Given the description of an element on the screen output the (x, y) to click on. 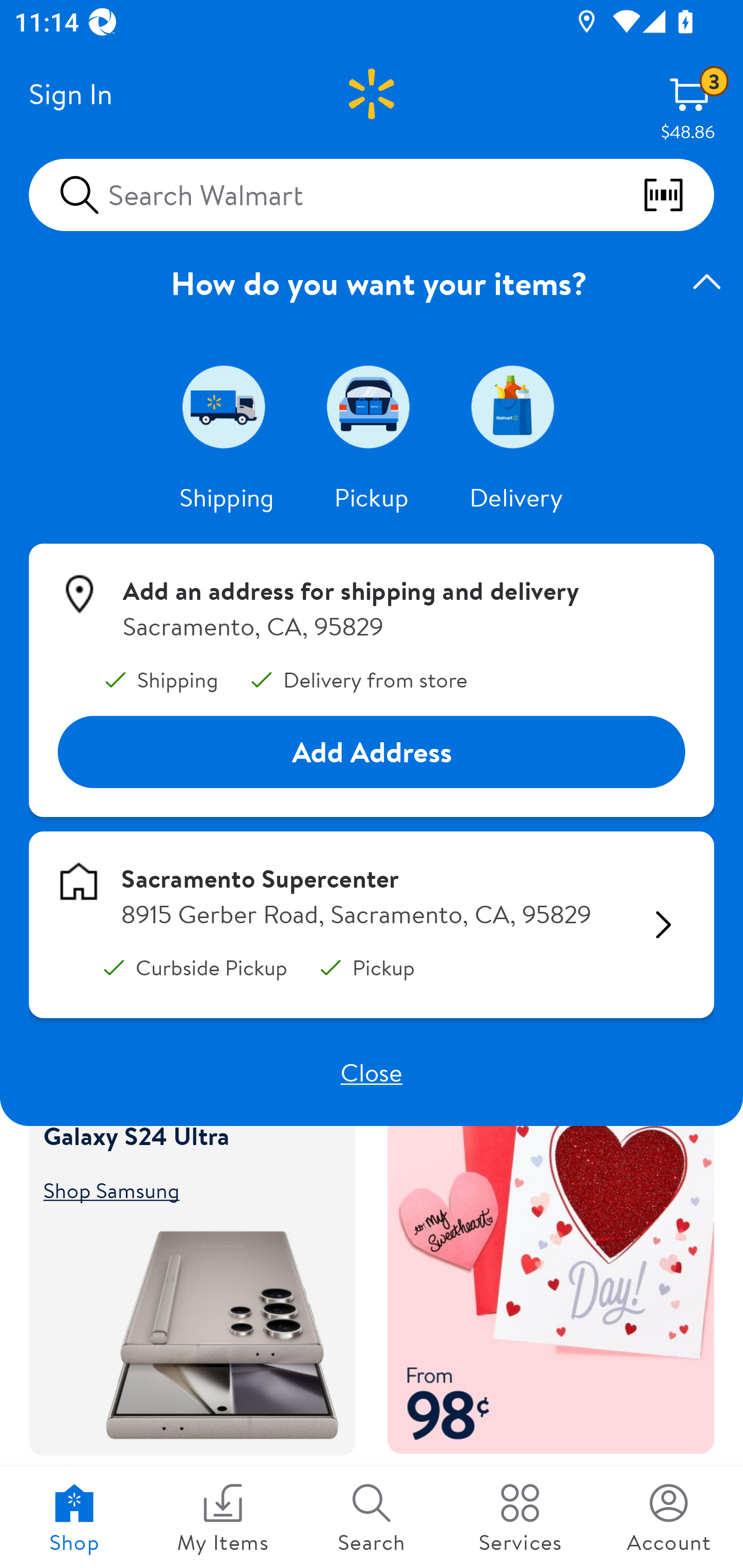
Sign In (70, 93)
Search Walmart scan barcodes qr codes and more (371, 194)
scan barcodes qr codes and more (677, 195)
How do you want your items? expanded (371, 282)
Shipping 1 of 3 (226, 406)
Pickup 2 of 3 (371, 406)
Delivery 3 of 3 (515, 406)
Add Address (371, 752)
Close (371, 1072)
Shop Samsung Shop Samsung Galaxy S24 Ultra (183, 1190)
My Items (222, 1517)
Search (371, 1517)
Services (519, 1517)
Account (668, 1517)
